Given the description of an element on the screen output the (x, y) to click on. 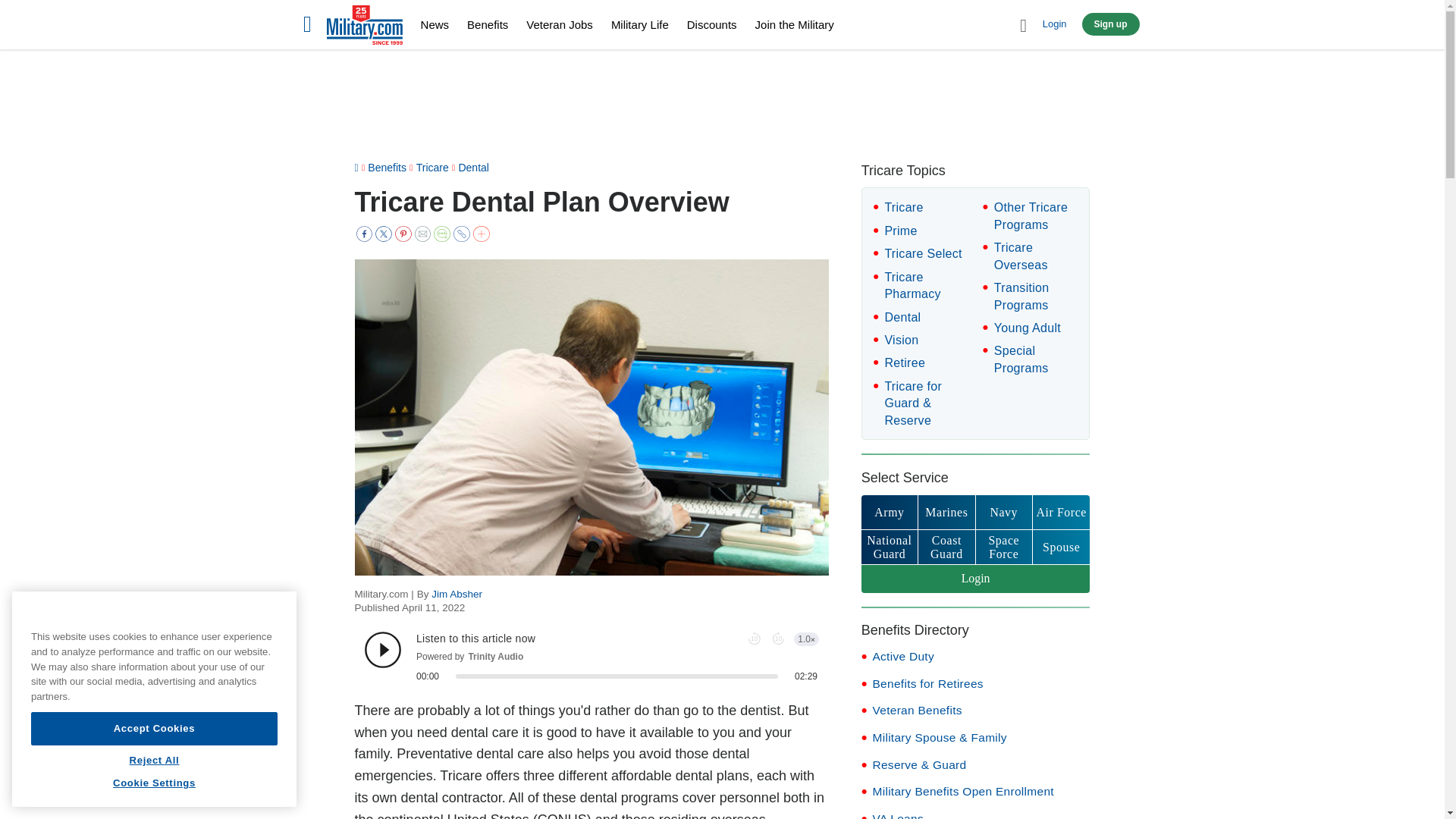
Navy login link (1003, 512)
Home (364, 27)
Login link (975, 578)
Trinity Audio Player (591, 656)
Military Life (639, 24)
Army login link (889, 512)
Veteran Jobs (558, 24)
Marines login link (946, 512)
Space Force login link (1003, 546)
Air Force login link (1060, 512)
Benefits (487, 24)
National Guard login link (889, 546)
Spouse login link (1060, 546)
Coast Guard login link (946, 546)
